Given the description of an element on the screen output the (x, y) to click on. 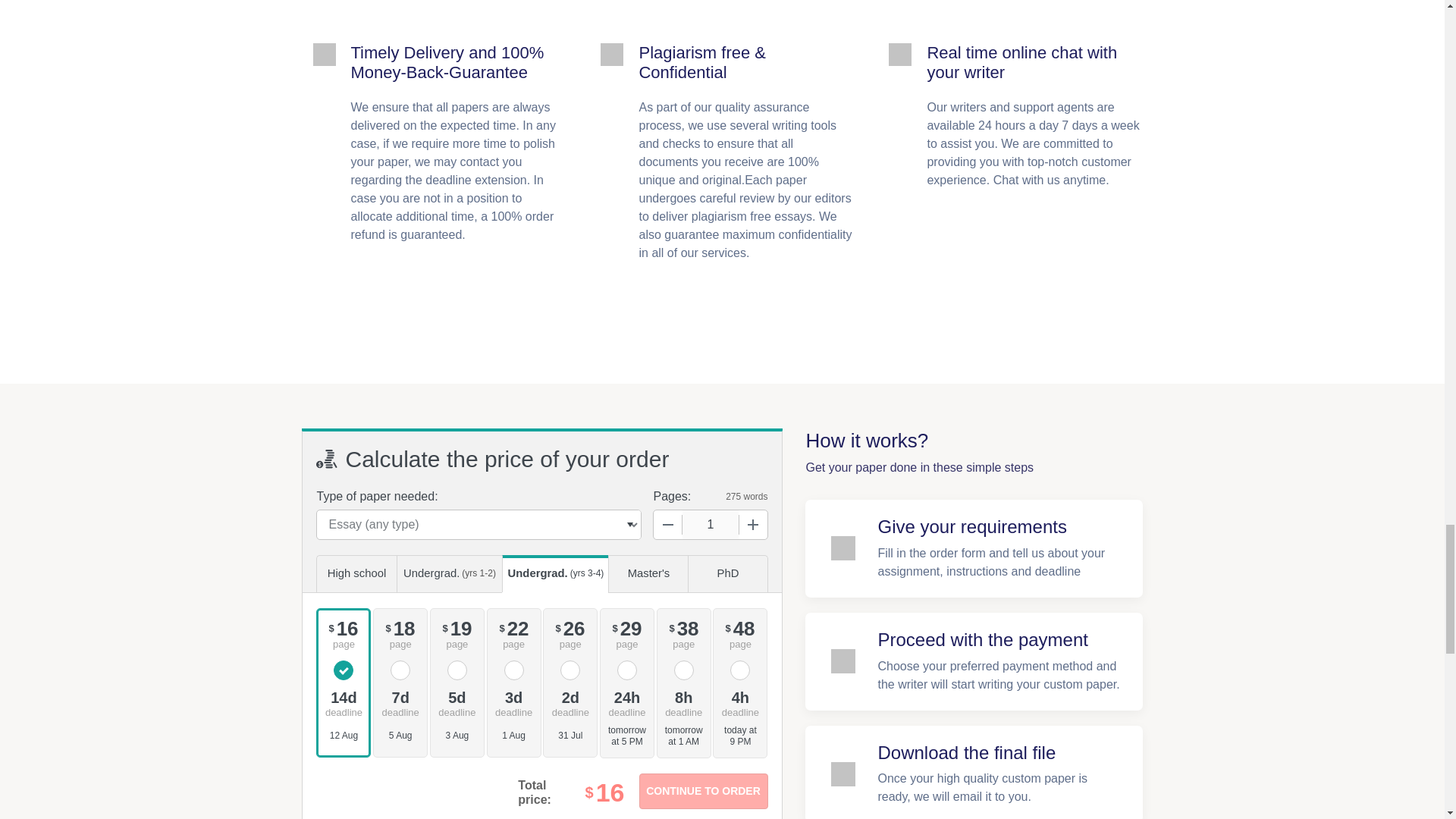
Continue to order (703, 791)
Decrease (667, 524)
Continue to order (703, 791)
Increase (752, 524)
1 (710, 524)
14 days (343, 702)
